Given the description of an element on the screen output the (x, y) to click on. 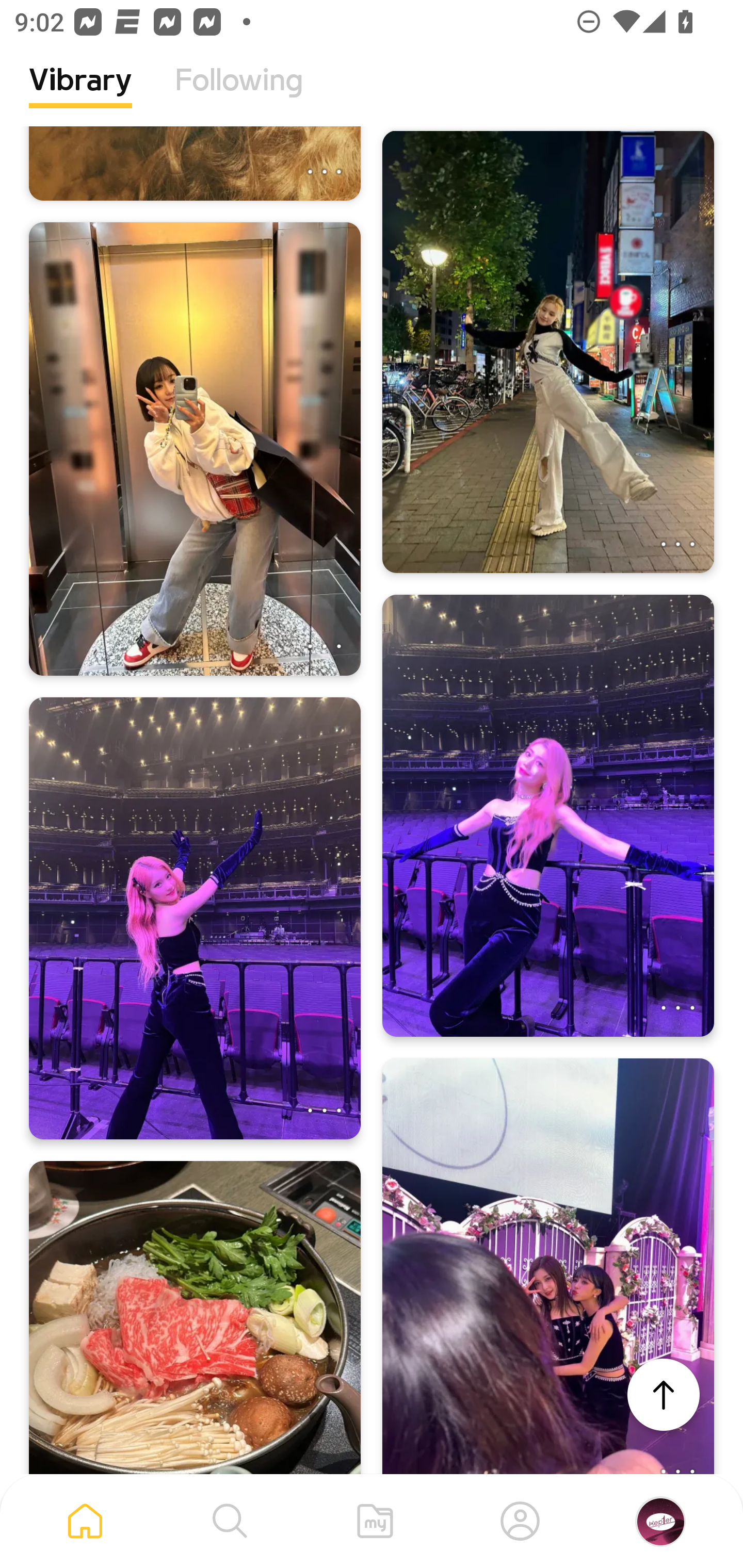
Vibrary (80, 95)
Following (239, 95)
